Given the description of an element on the screen output the (x, y) to click on. 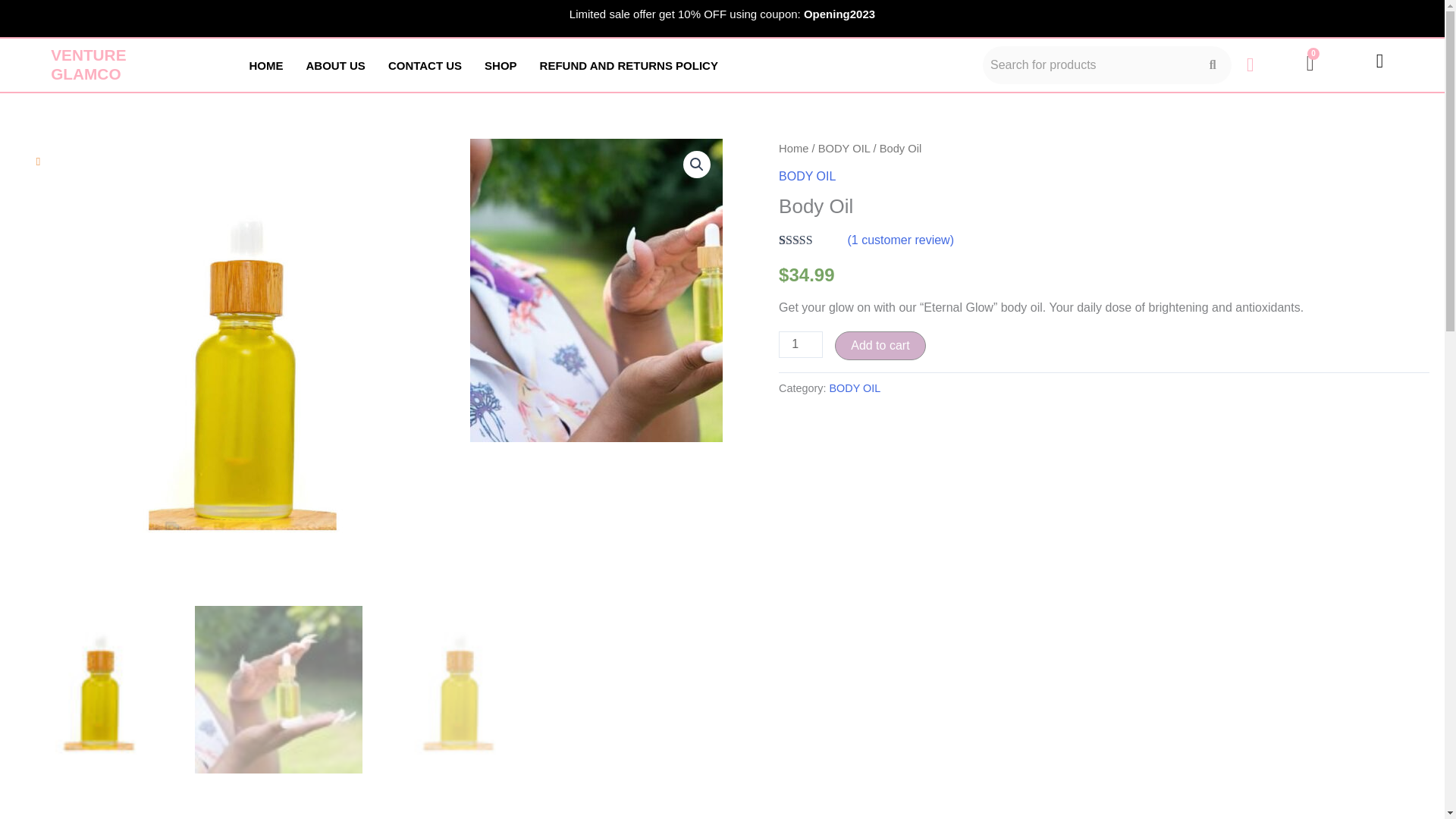
BODY OIL (844, 148)
BODY OIL (854, 387)
HOME (266, 65)
Home (793, 148)
CONTACT US (425, 65)
BODY OIL (806, 175)
ABOUT US (336, 65)
SHOP (500, 65)
1 (800, 344)
Add to cart (879, 345)
